Given the description of an element on the screen output the (x, y) to click on. 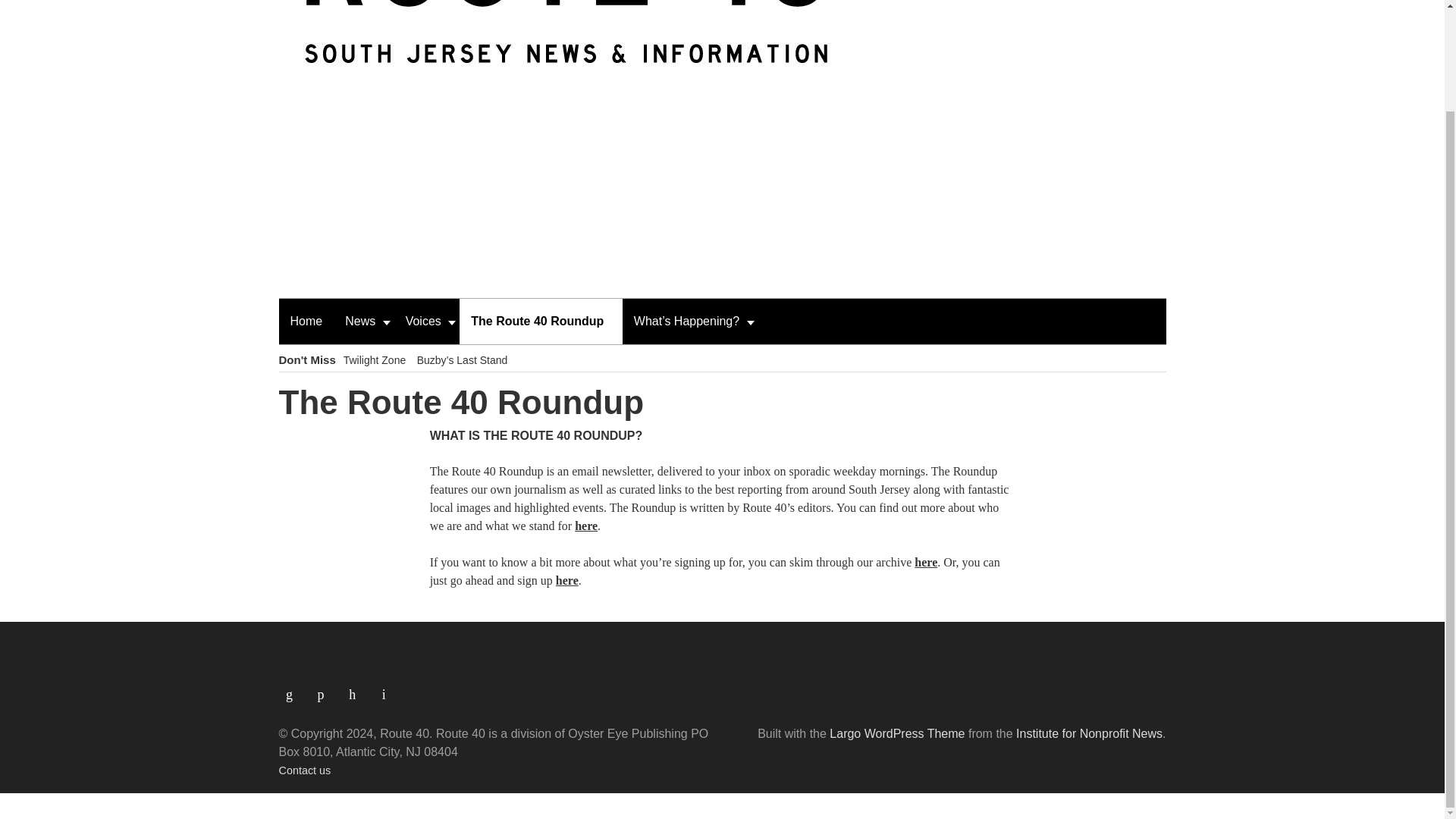
Link to Twitter Page (358, 687)
Link to Facebook Profile (326, 687)
Link to RSS Feed (295, 687)
Link to YouTube Page (384, 687)
